Given the description of an element on the screen output the (x, y) to click on. 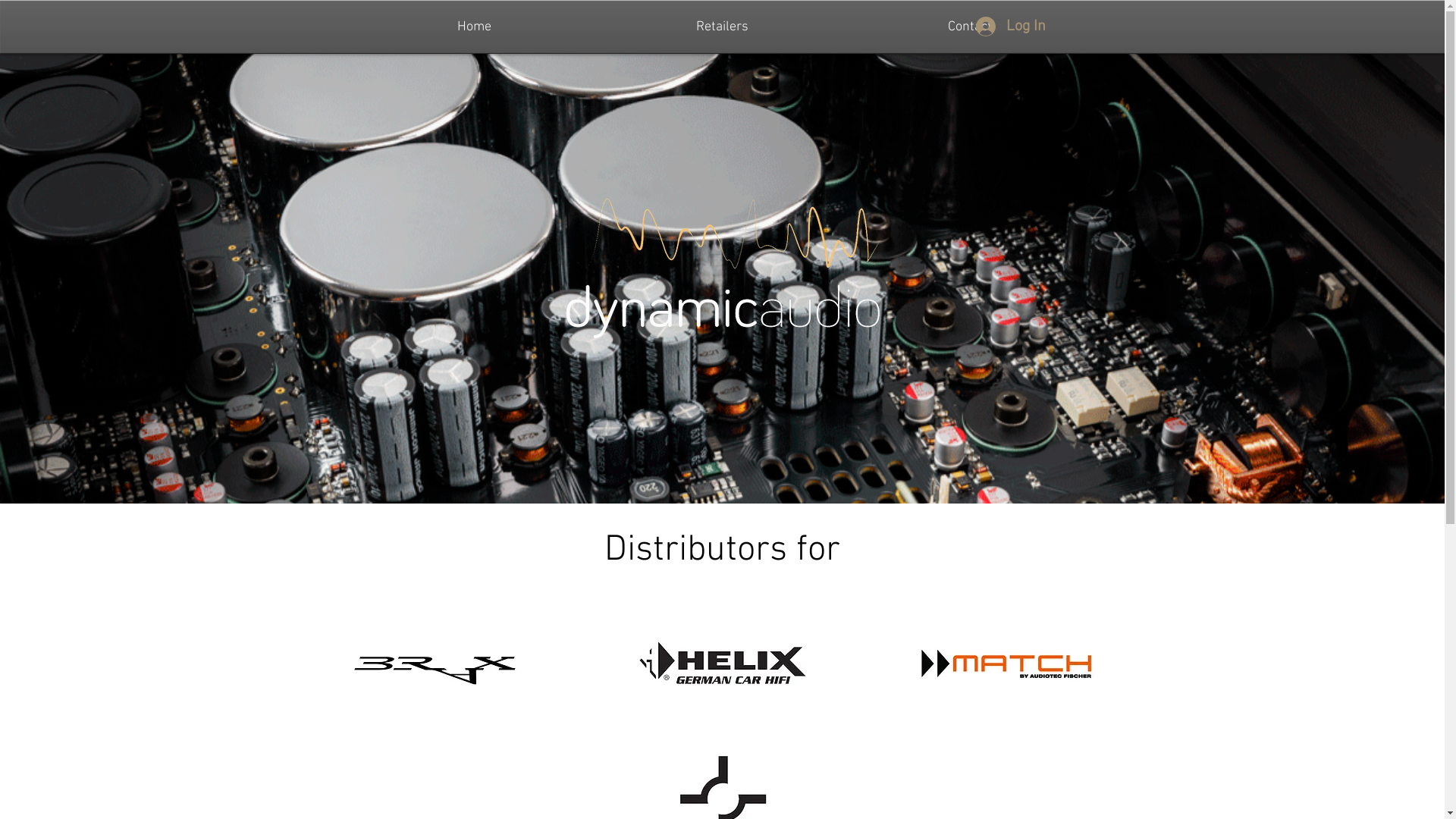
Log In Element type: text (1009, 26)
Retailers Element type: text (721, 26)
Contact Element type: text (969, 26)
Home Element type: text (474, 26)
